Given the description of an element on the screen output the (x, y) to click on. 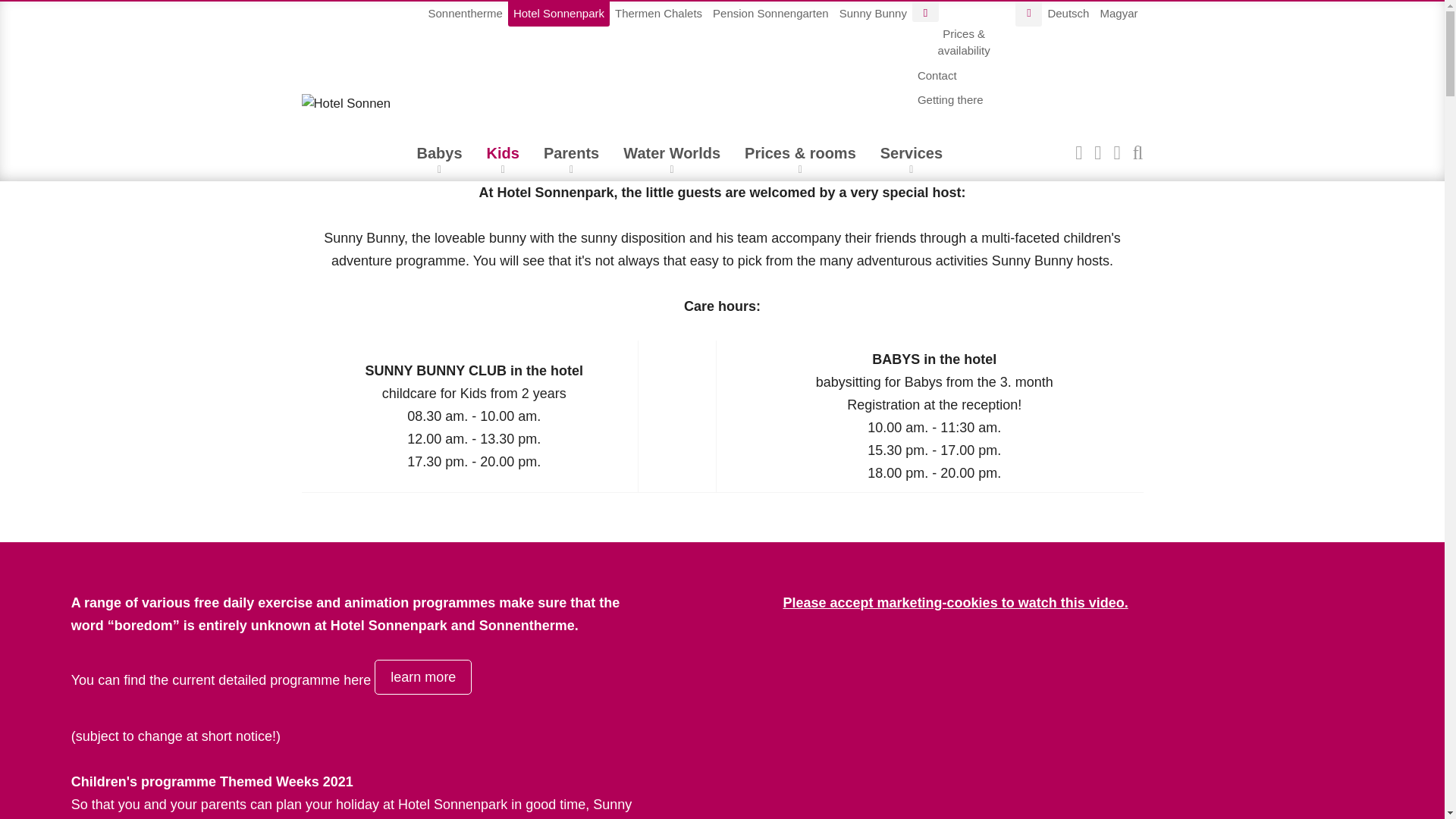
Hotel Sonnenpark (559, 13)
Hotel Sonnenpark, Lutzmannsburg (1267, 82)
Pension Sonnengarten (770, 13)
Magyar (1118, 13)
Getting there (950, 100)
Parents (571, 157)
Deutsch (1068, 13)
Thermen Chalets (658, 13)
Hotel Sonnenpark, Lutzmannsburg (345, 103)
Contact (937, 75)
